Given the description of an element on the screen output the (x, y) to click on. 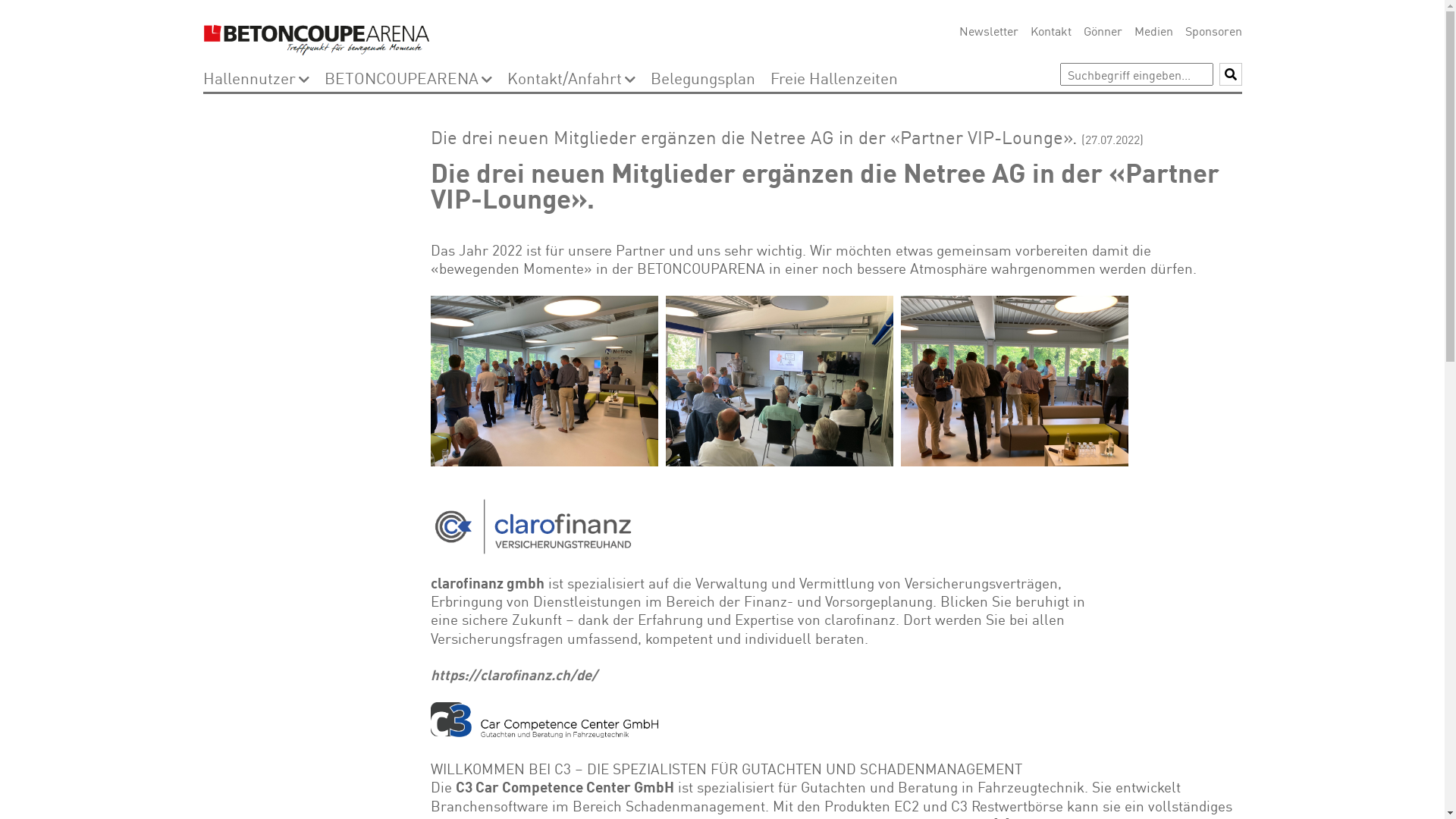
Belegungsplan Element type: text (702, 76)
BETONCOUPEARENA Element type: text (401, 76)
Kontakt/Anfahrt Element type: text (563, 76)
Sponsoren Element type: text (1212, 30)
Kontakt Element type: text (1049, 30)
Medien Element type: text (1153, 30)
Newsletter Element type: text (987, 30)
Hallennutzer Element type: text (249, 76)
Freie Hallenzeiten Element type: text (833, 76)
https://clarofinanz.ch/de/ Element type: text (513, 673)
